Given the description of an element on the screen output the (x, y) to click on. 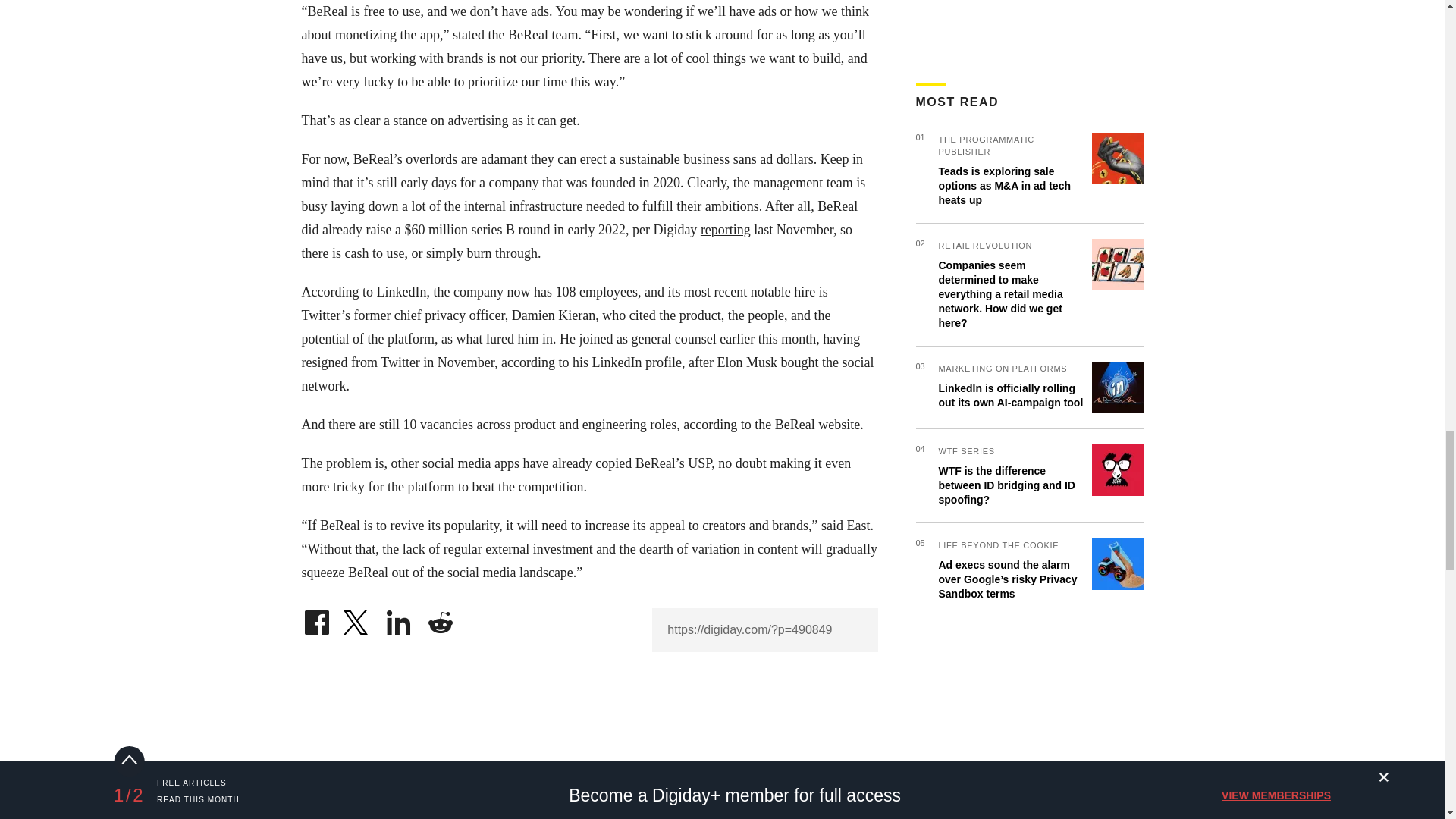
Share on Twitter (357, 618)
Share on Facebook (316, 618)
Share on Reddit (440, 618)
Share on LinkedIn (398, 618)
